Given the description of an element on the screen output the (x, y) to click on. 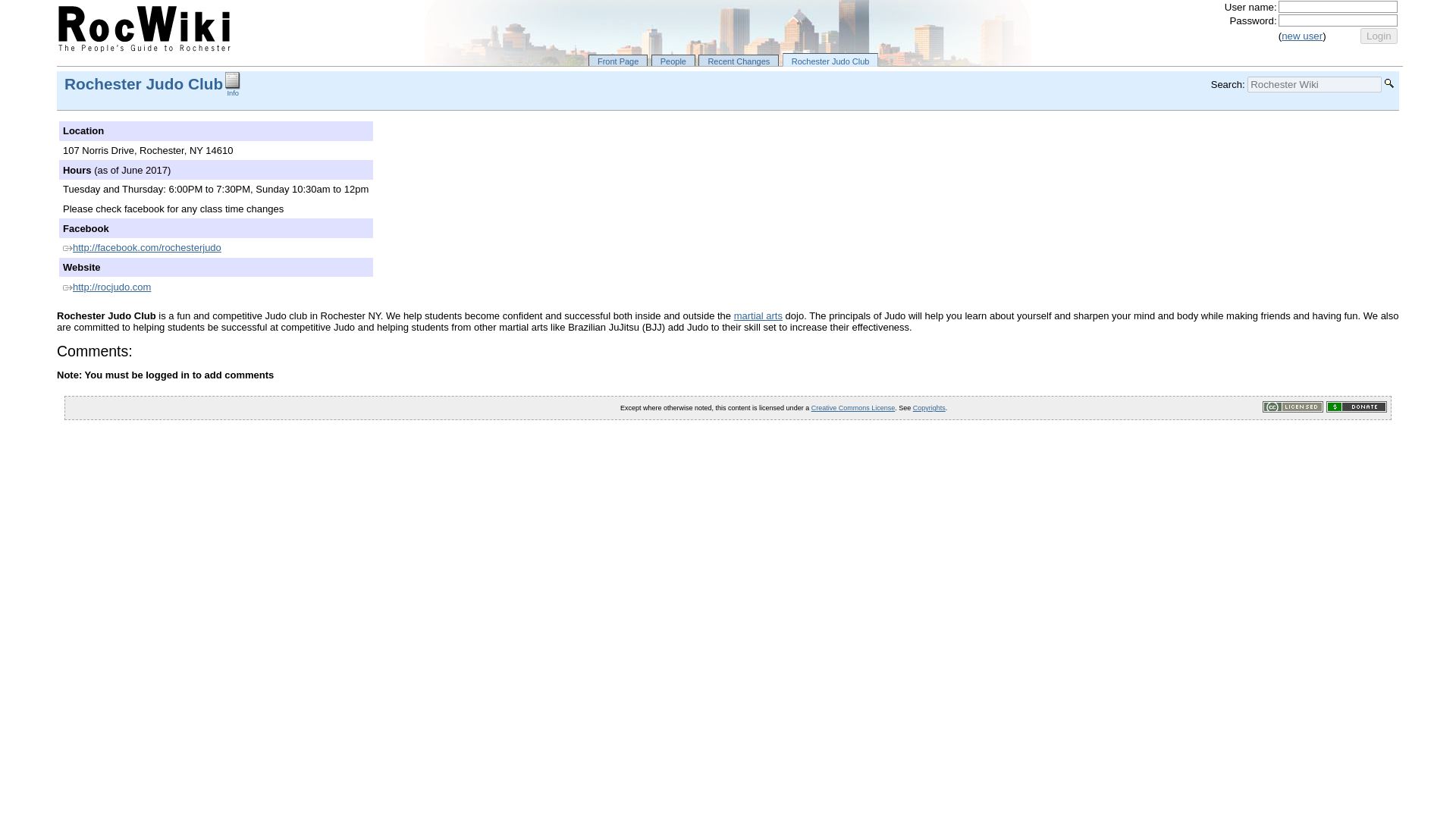
Creative Commons License (852, 407)
Recent Changes (738, 60)
Rochester Judo Club (143, 83)
new user (1301, 35)
Front Page (617, 60)
Martial Arts (758, 315)
People (672, 60)
Info (231, 90)
Copyrights (928, 407)
martial arts (758, 315)
Rochester Judo Club (143, 83)
Rochester Judo Club (831, 59)
